Given the description of an element on the screen output the (x, y) to click on. 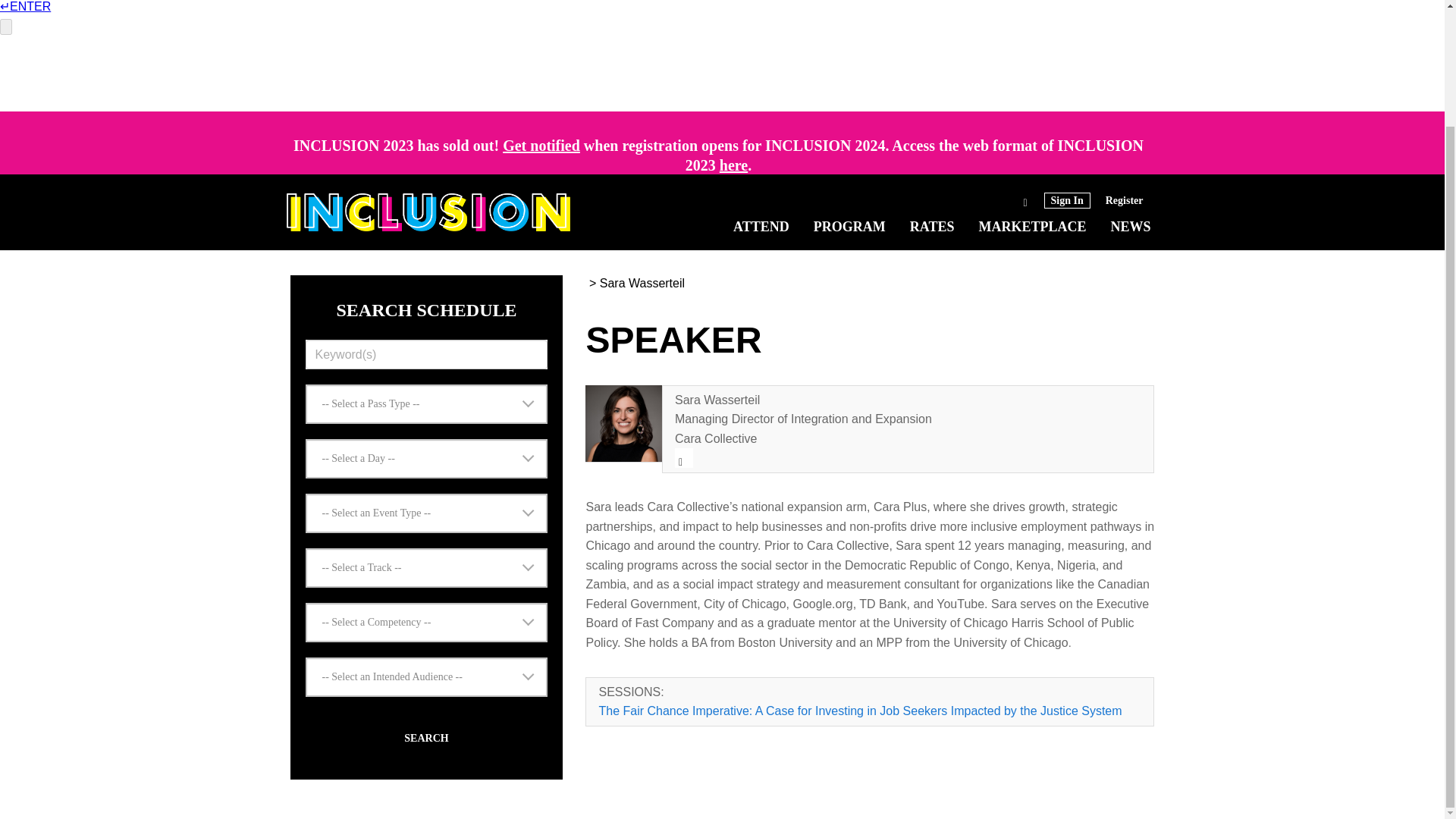
ATTEND (761, 87)
Sign In (1066, 61)
here (733, 165)
RATES (932, 87)
MARKETPLACE (1032, 87)
Register (1124, 61)
SEARCH (425, 738)
NEWS (1129, 87)
PROGRAM (849, 87)
Home (428, 73)
Get notified (540, 145)
